Given the description of an element on the screen output the (x, y) to click on. 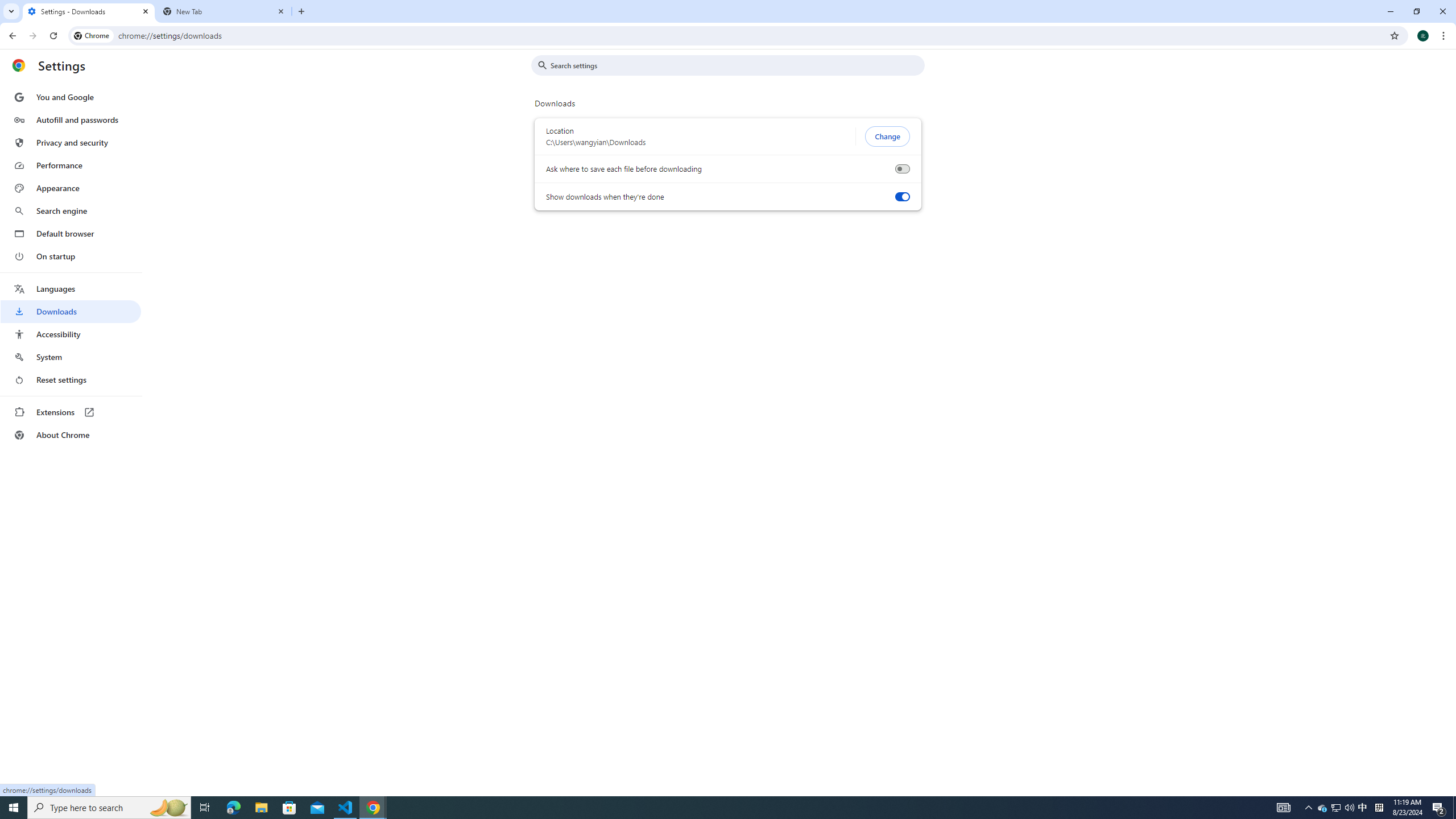
On startup (70, 255)
Show downloads when they're done (901, 197)
Search settings (735, 65)
Default browser (70, 233)
Performance (70, 164)
Autofill and passwords (70, 119)
Languages (70, 288)
Ask where to save each file before downloading (901, 168)
Privacy and security (70, 142)
You and Google (70, 96)
